Given the description of an element on the screen output the (x, y) to click on. 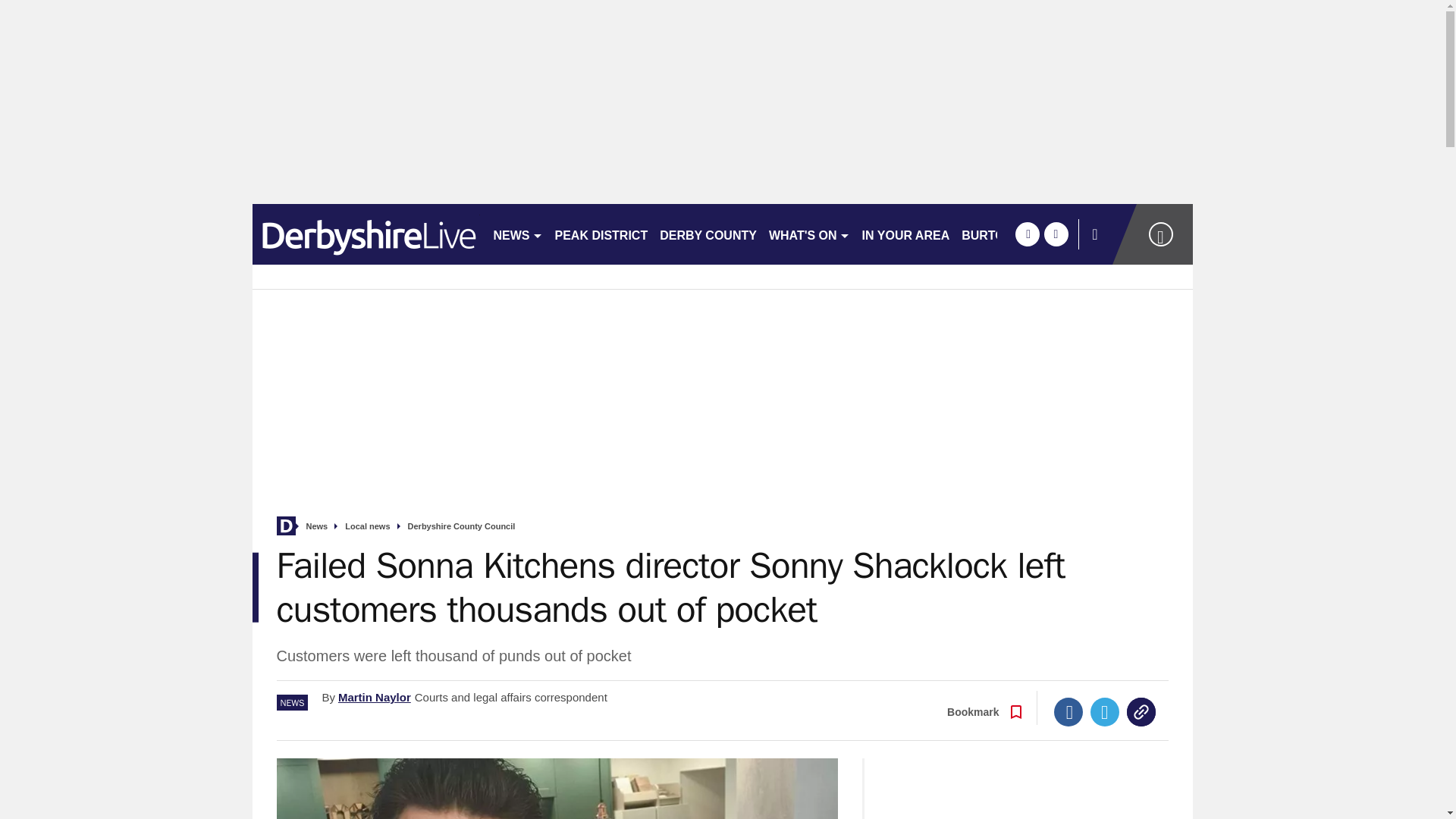
NEWS (517, 233)
derbytelegraph (365, 233)
facebook (1026, 233)
Facebook (1068, 711)
twitter (1055, 233)
IN YOUR AREA (906, 233)
DERBY COUNTY (707, 233)
Twitter (1104, 711)
WHAT'S ON (809, 233)
PEAK DISTRICT (600, 233)
